Given the description of an element on the screen output the (x, y) to click on. 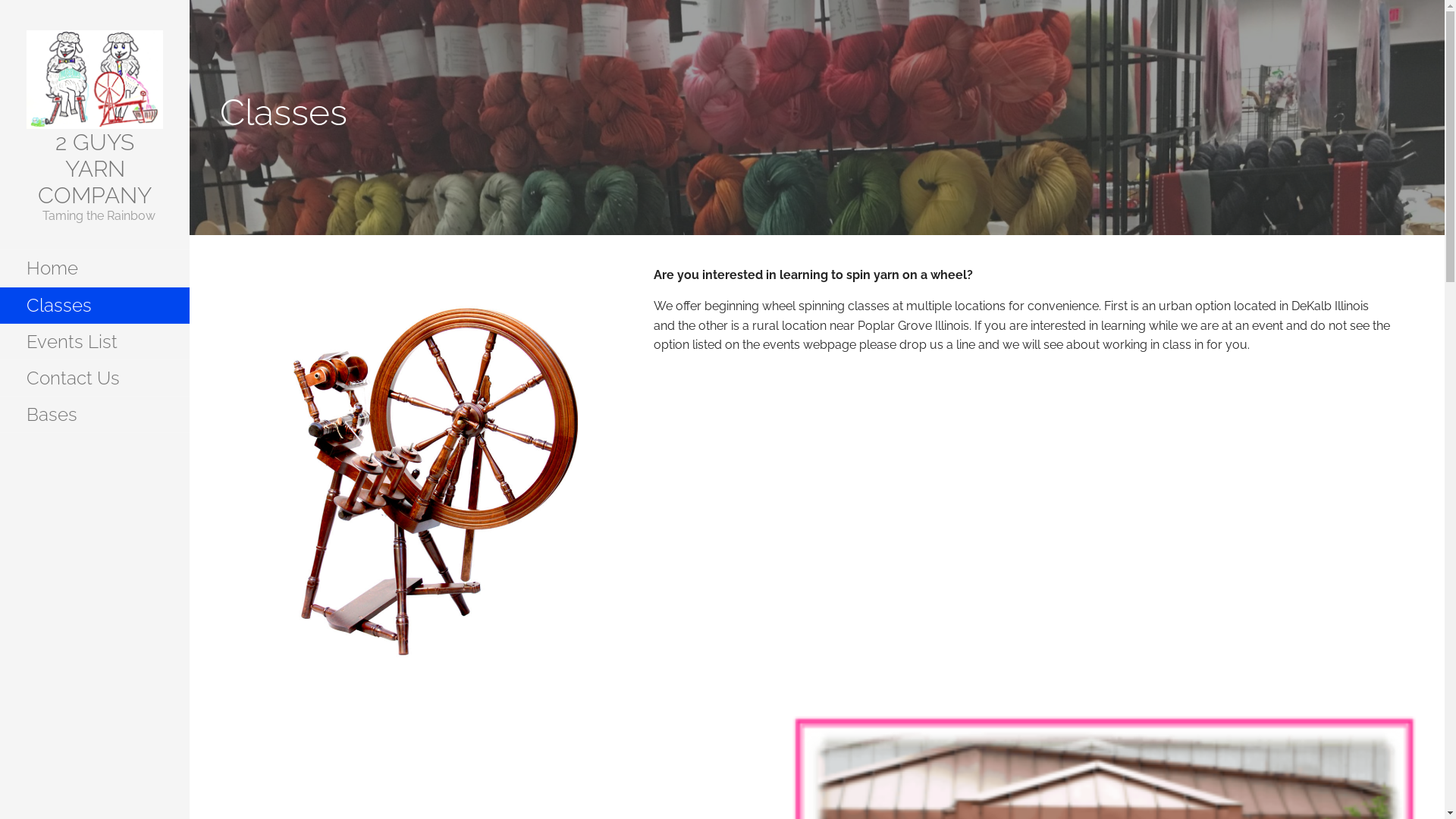
Classes Element type: text (94, 305)
Bases Element type: text (94, 414)
Home Element type: text (94, 268)
2 GUYS YARN COMPANY Element type: text (94, 168)
Contact Us Element type: text (94, 378)
Skip to content Element type: text (189, 0)
Events List Element type: text (94, 341)
